Given the description of an element on the screen output the (x, y) to click on. 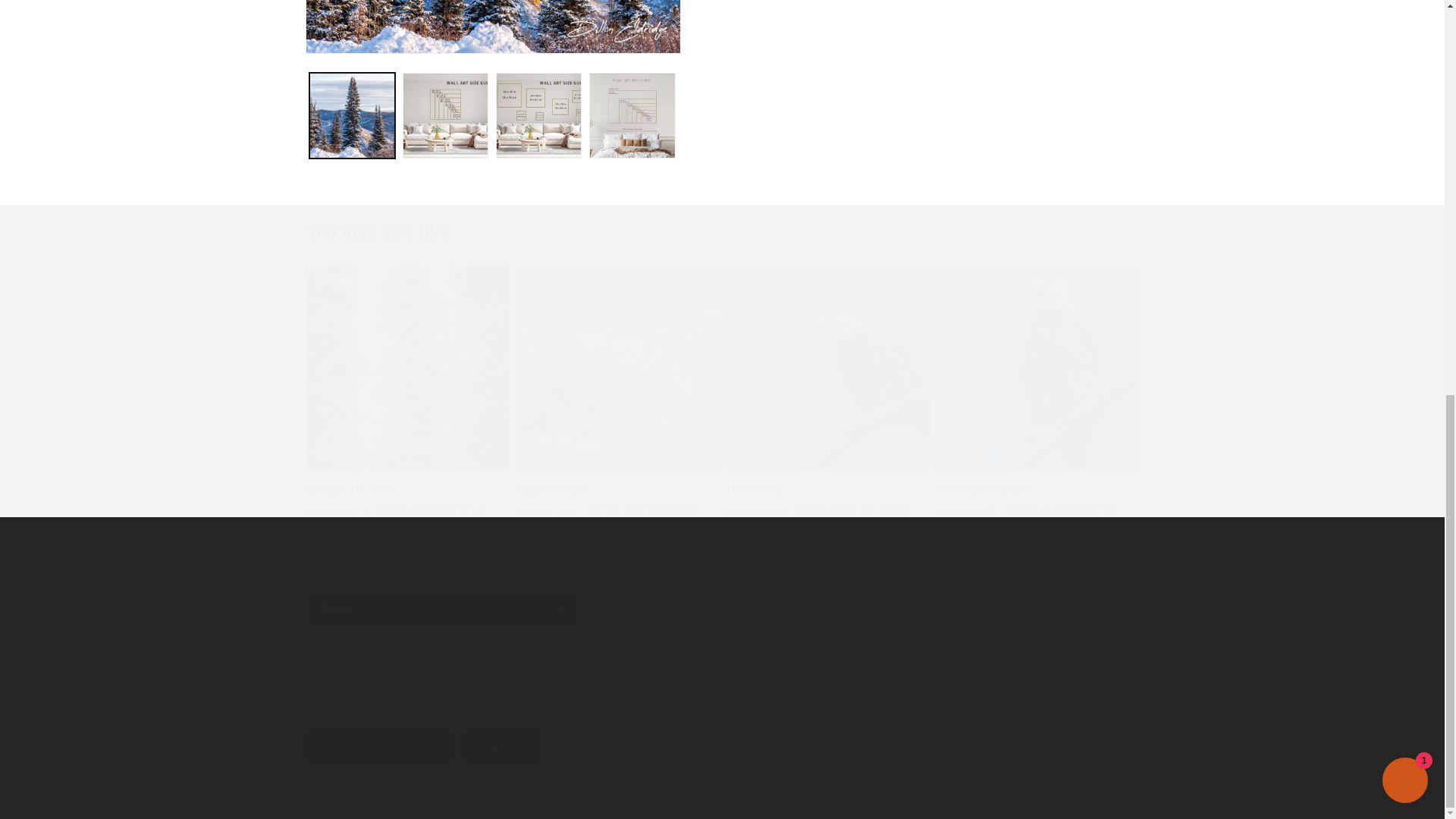
Shopify online store chat (721, 593)
